Given the description of an element on the screen output the (x, y) to click on. 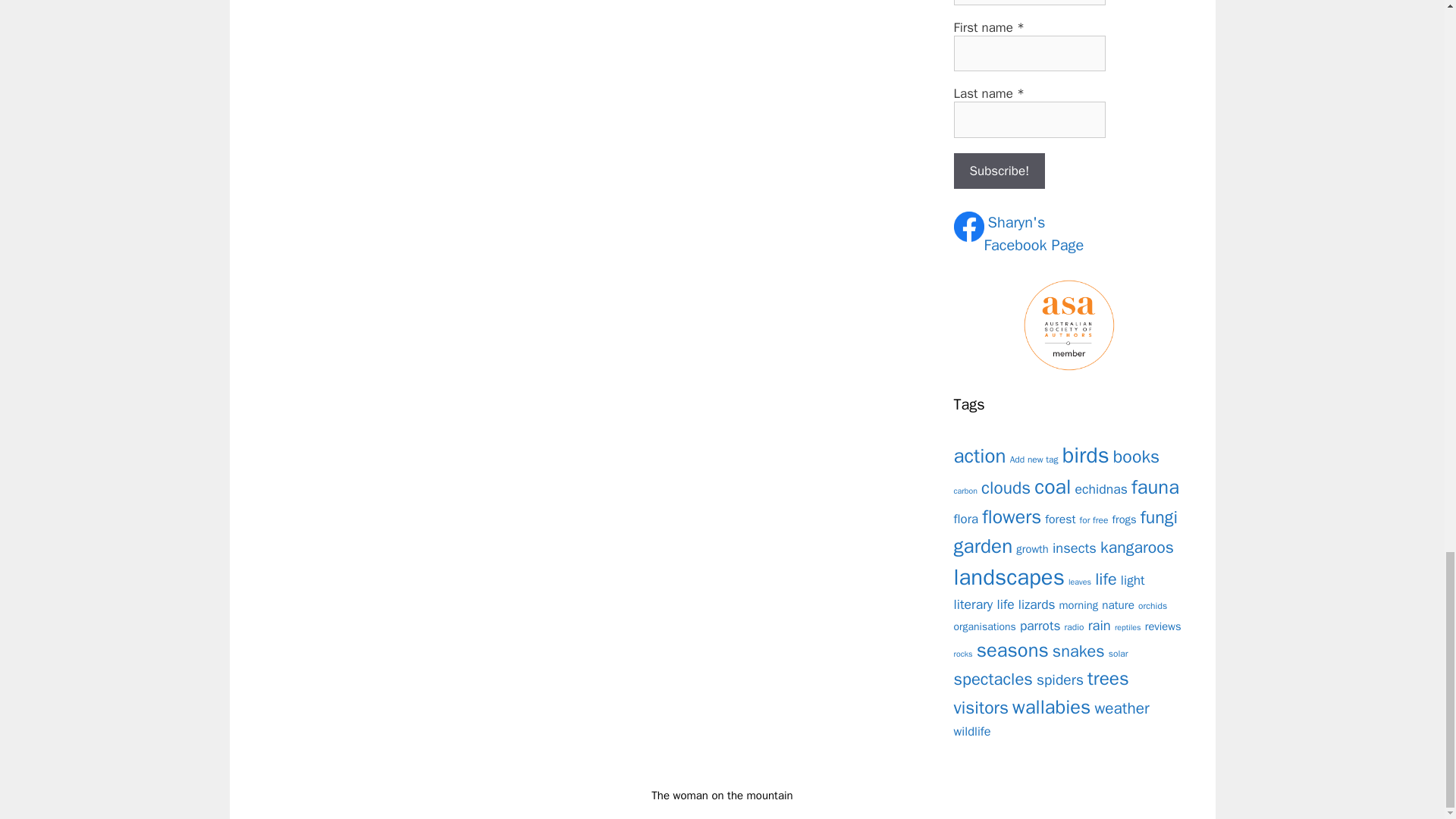
forest (1060, 519)
Add new tag (1034, 459)
carbon (965, 491)
Last name (1029, 119)
Subscribe! (999, 171)
echidnas (1100, 488)
fauna (1155, 487)
action (979, 455)
clouds (1005, 487)
coal (1051, 486)
flora (965, 519)
Email (1029, 2)
flowers (1011, 516)
birds (1085, 455)
books (1135, 456)
